Given the description of an element on the screen output the (x, y) to click on. 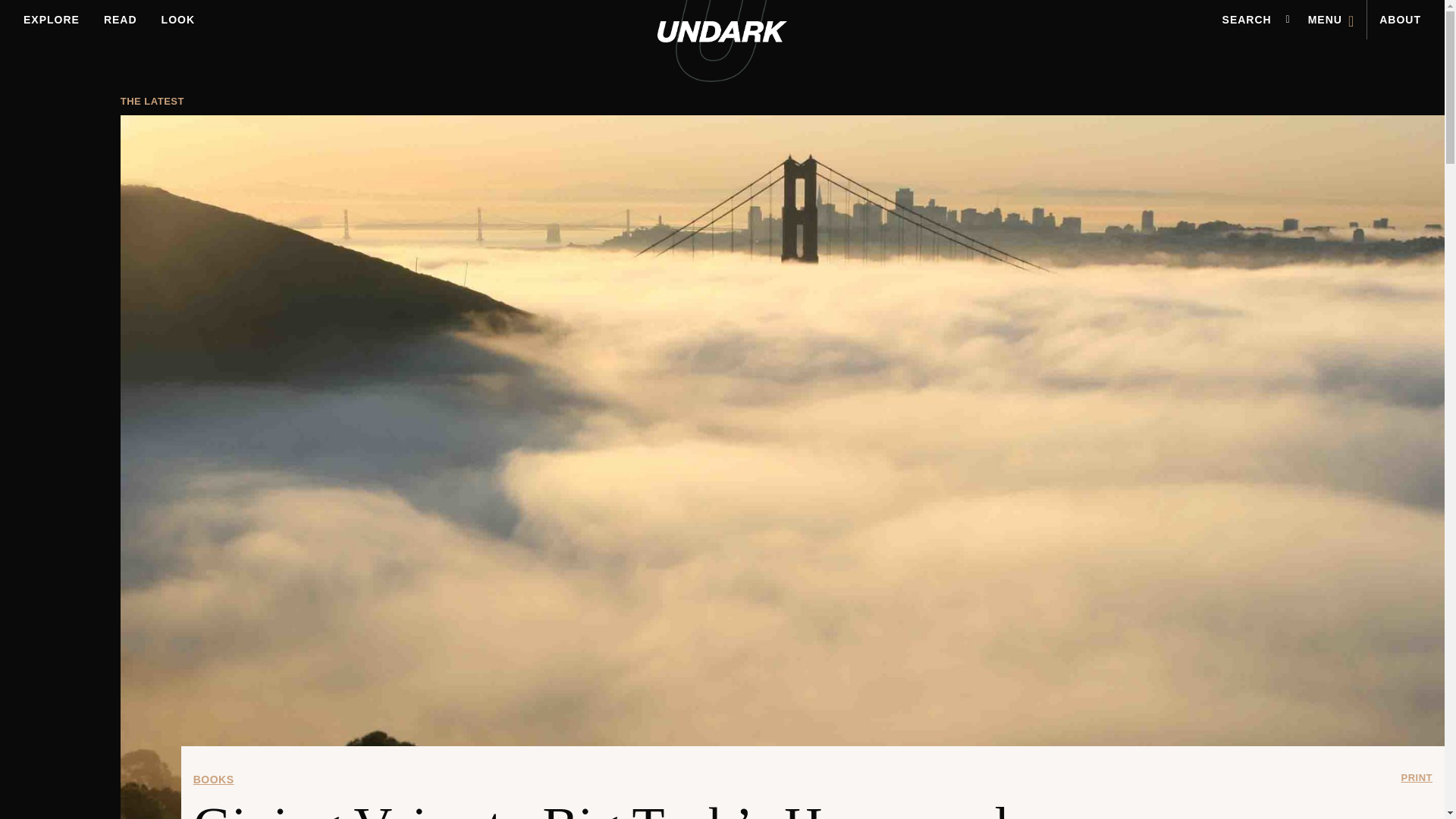
EXPLORE (51, 19)
SEARCH (1247, 19)
MENU (1331, 19)
LOOK (177, 19)
ABOUT (1399, 19)
READ (120, 19)
